Given the description of an element on the screen output the (x, y) to click on. 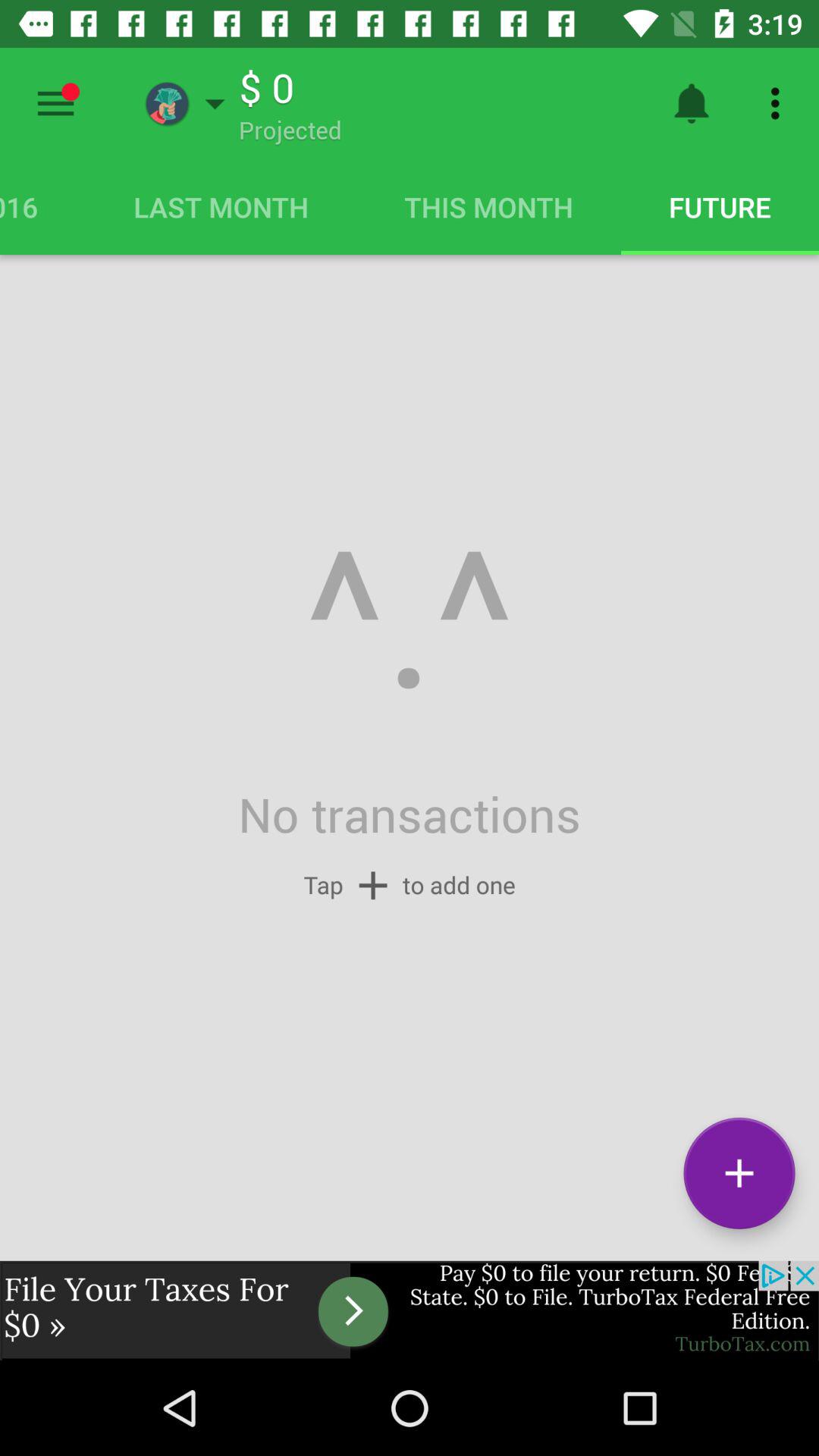
money manager budget planner goal wallet reporting linked wallet credit wallet (55, 103)
